Given the description of an element on the screen output the (x, y) to click on. 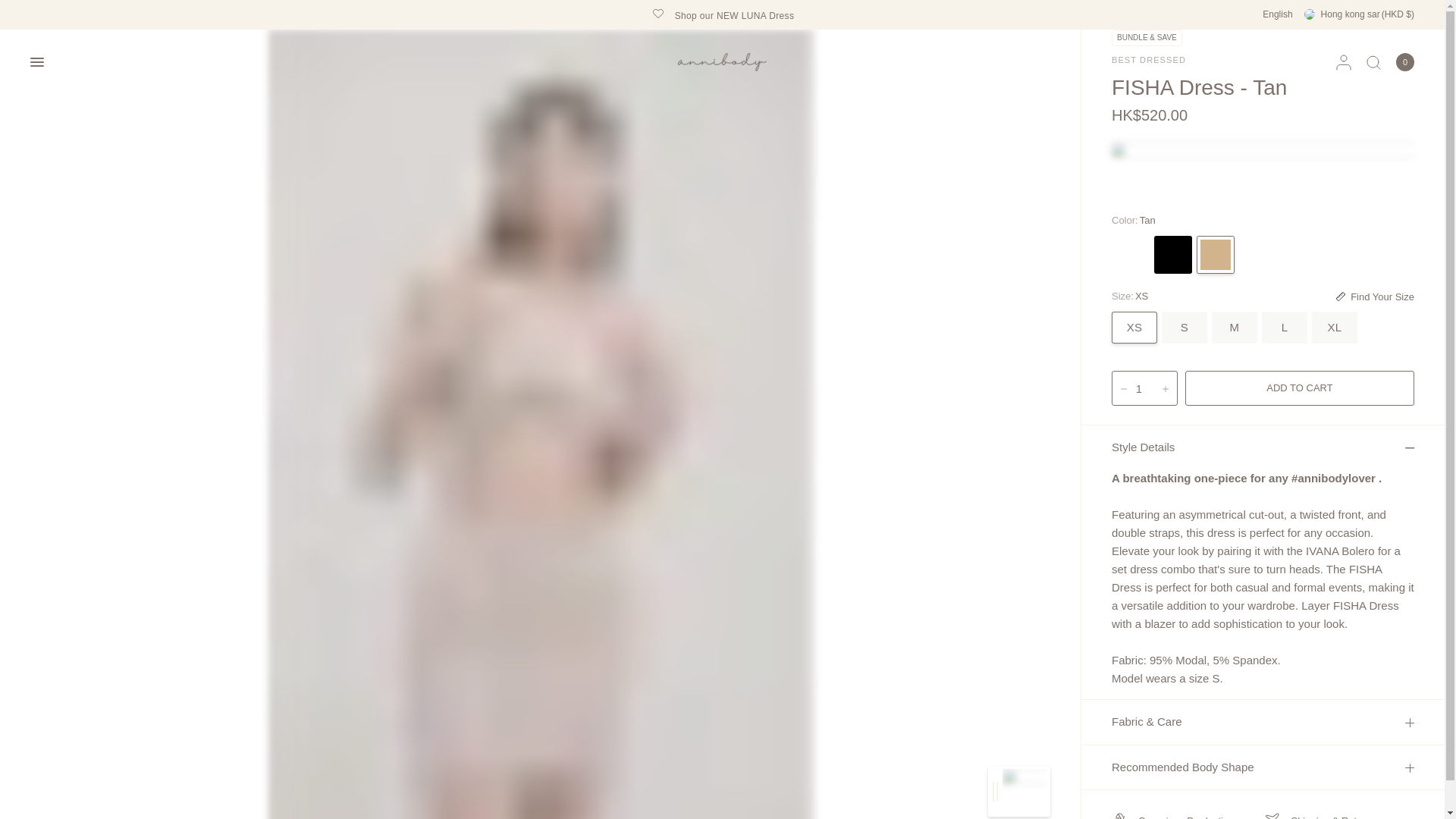
English (1277, 14)
Shop our NEW LUNA Dress (722, 14)
